Given the description of an element on the screen output the (x, y) to click on. 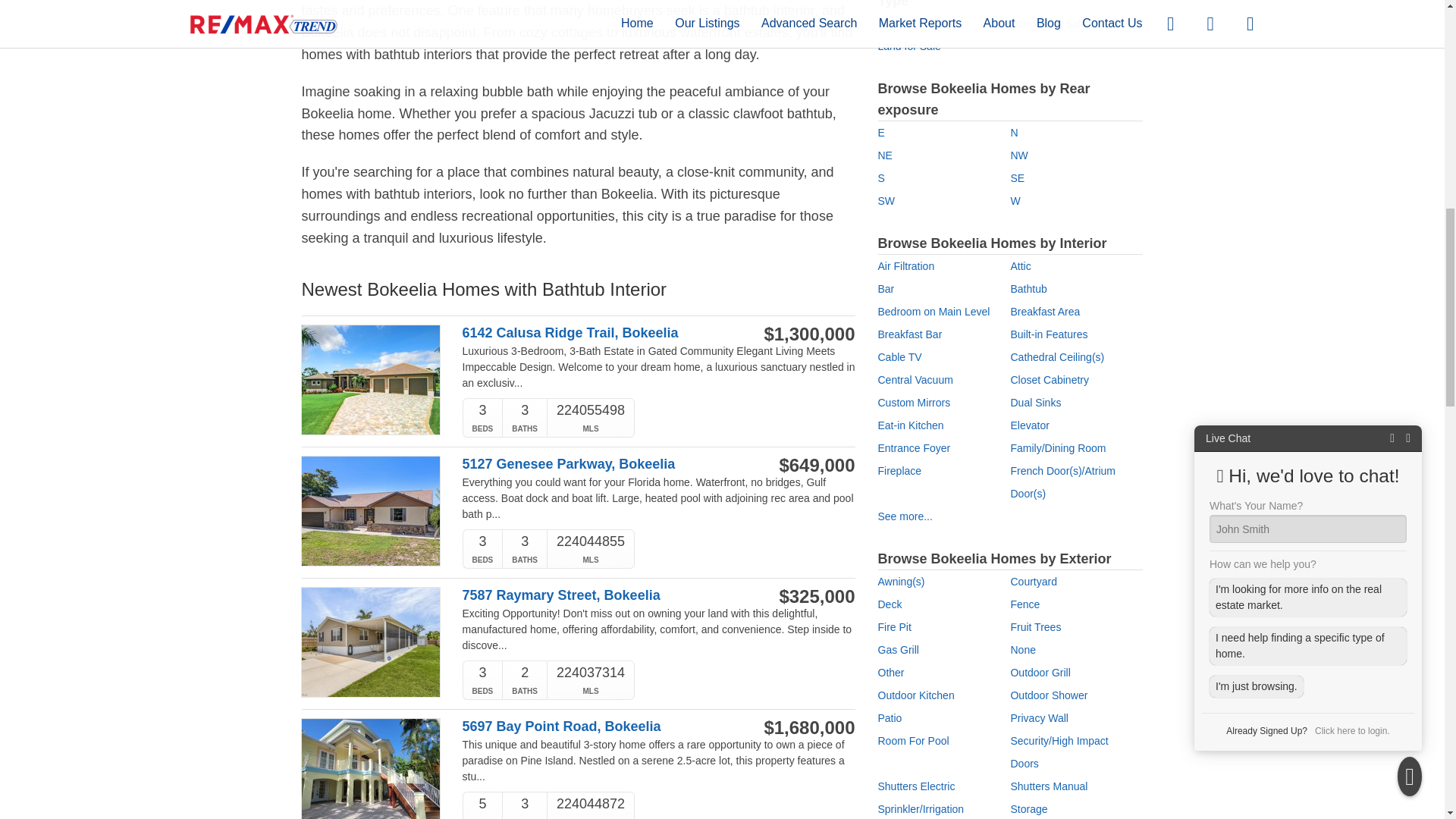
7587 Raymary Street, Bokeelia (600, 595)
6142 Calusa Ridge Trail, Bokeelia (600, 333)
5697 Bay Point Road, Bokeelia (600, 726)
5127 Genesee Parkway, Bokeelia (600, 464)
